Given the description of an element on the screen output the (x, y) to click on. 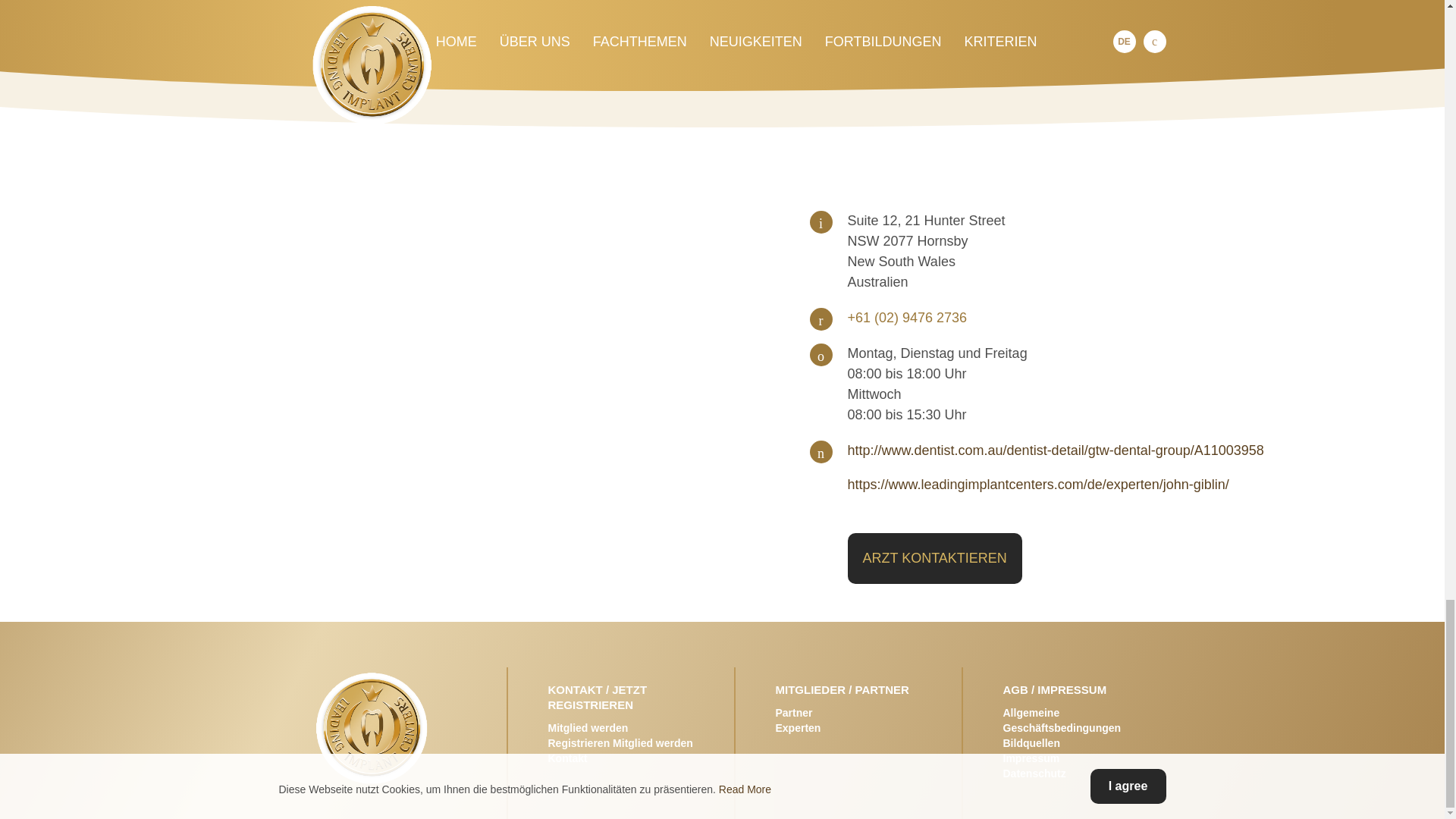
ARZT KONTAKTIEREN (934, 558)
Kontakt (566, 758)
Experten (797, 727)
Partner (793, 712)
Arzt kontaktieren (934, 558)
Registrieren Mitglied werden (620, 743)
Mitglied werden (587, 727)
